Given the description of an element on the screen output the (x, y) to click on. 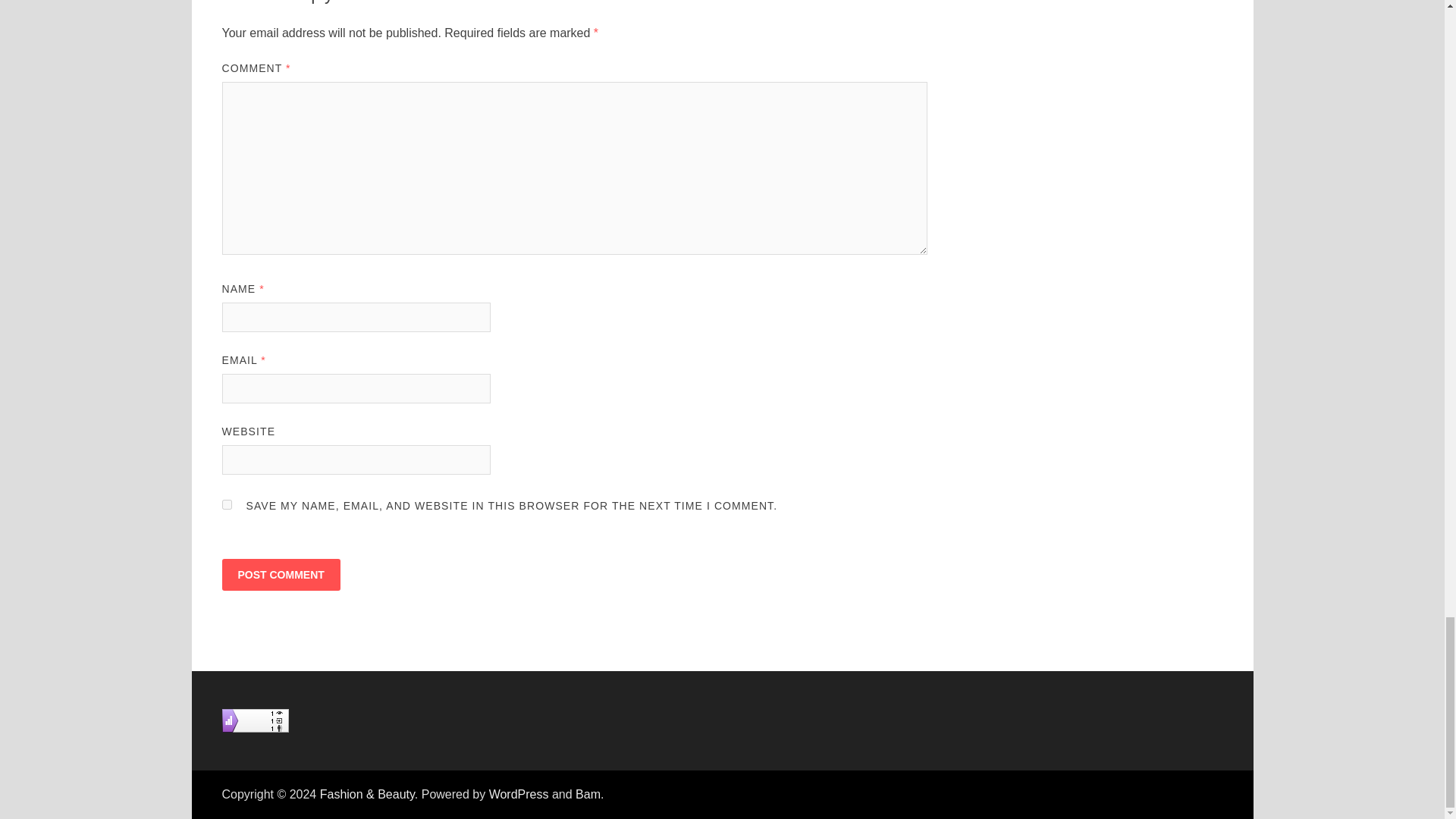
yes (226, 504)
Post Comment (280, 574)
WordPress (518, 793)
Post Comment (280, 574)
Bam (587, 793)
